Given the description of an element on the screen output the (x, y) to click on. 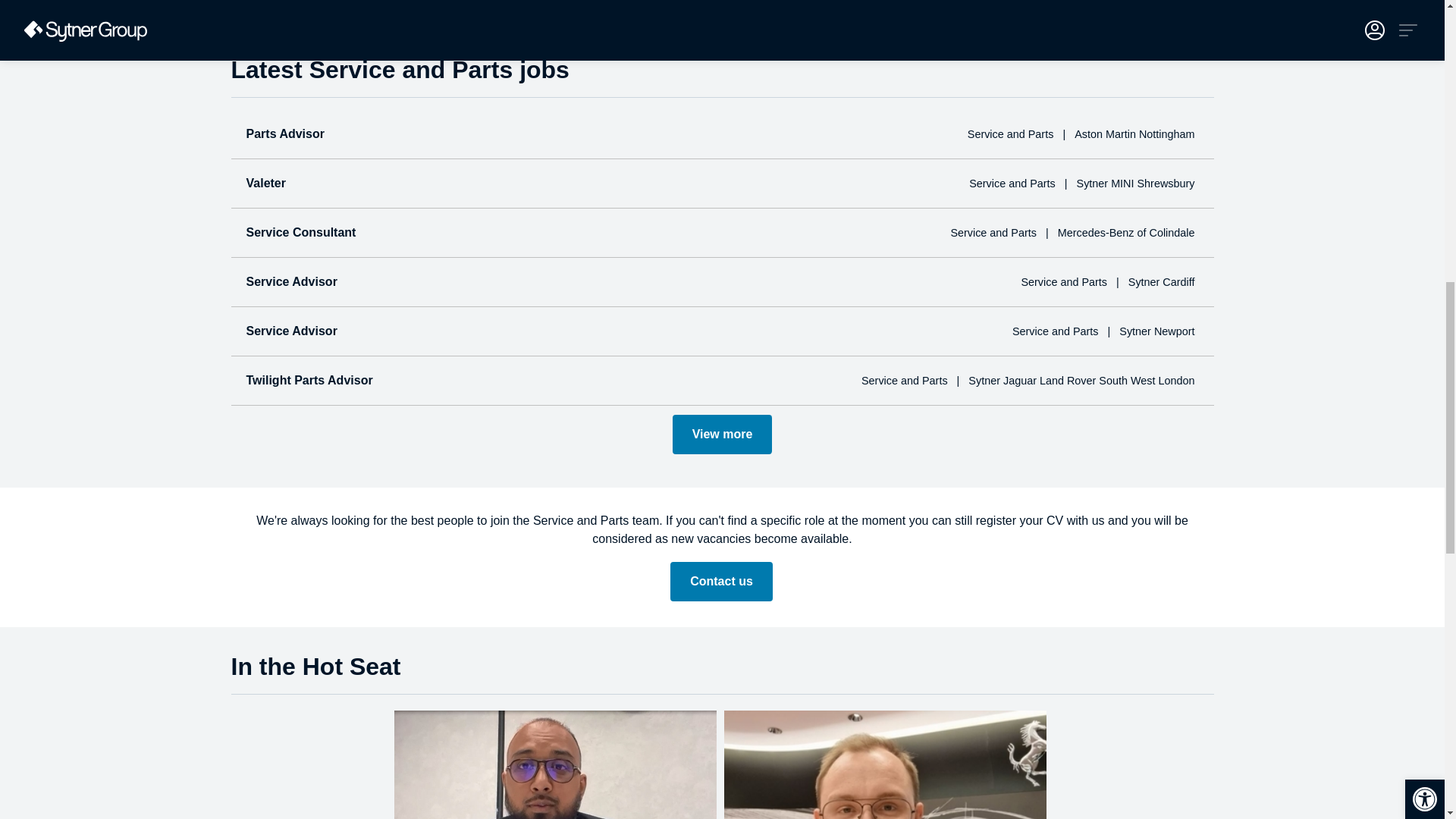
Service Advisor (291, 330)
Service Advisor (291, 281)
Service Consultant (300, 232)
Parts Advisor (284, 133)
Twilight Parts Advisor (309, 379)
Valeter (265, 182)
